Given the description of an element on the screen output the (x, y) to click on. 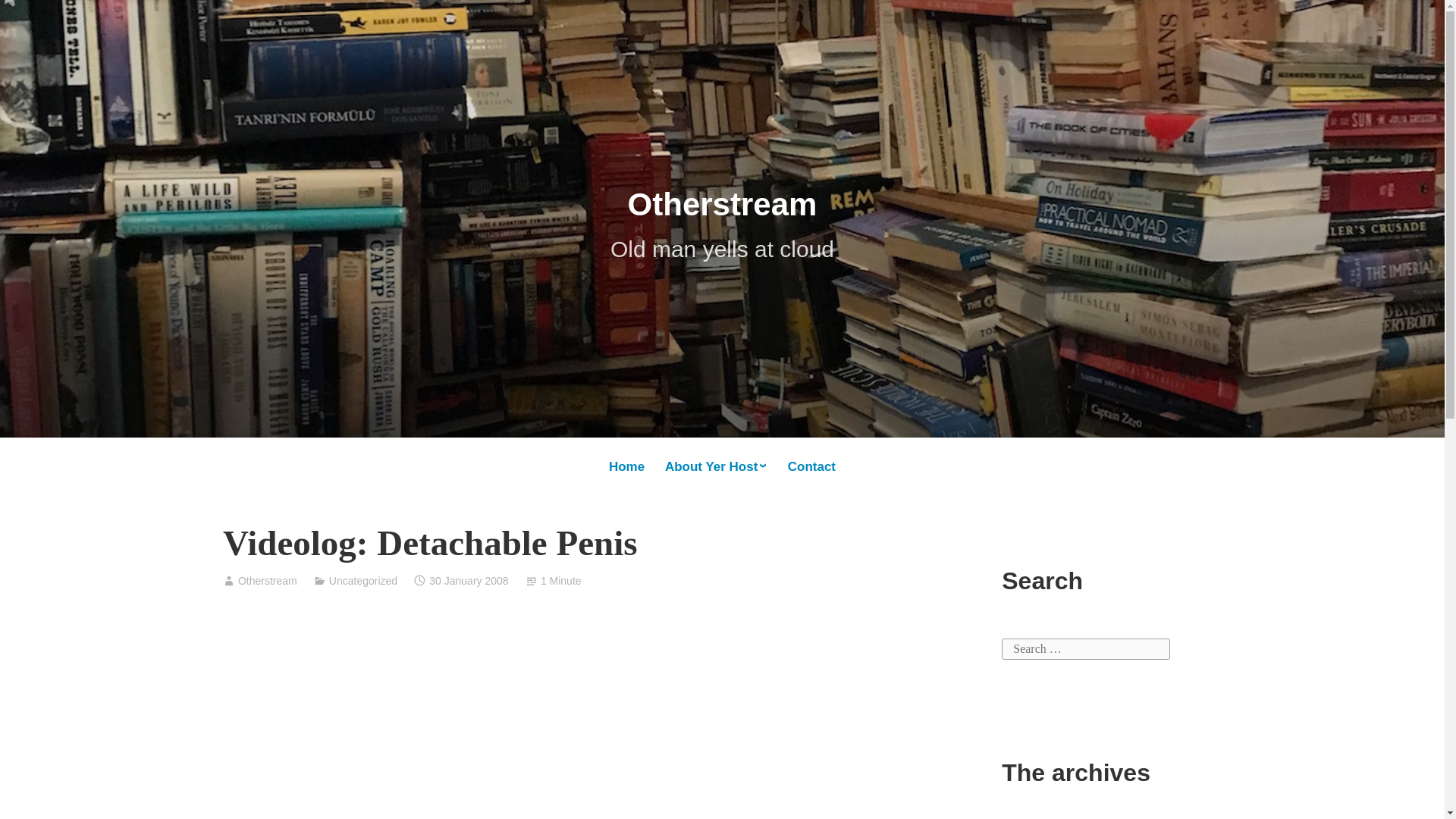
About Yer Host (716, 466)
Home (625, 466)
Contact (811, 466)
Search (30, 16)
Otherstream (267, 580)
Posts by Otherstream (267, 580)
Otherstream (721, 203)
